Given the description of an element on the screen output the (x, y) to click on. 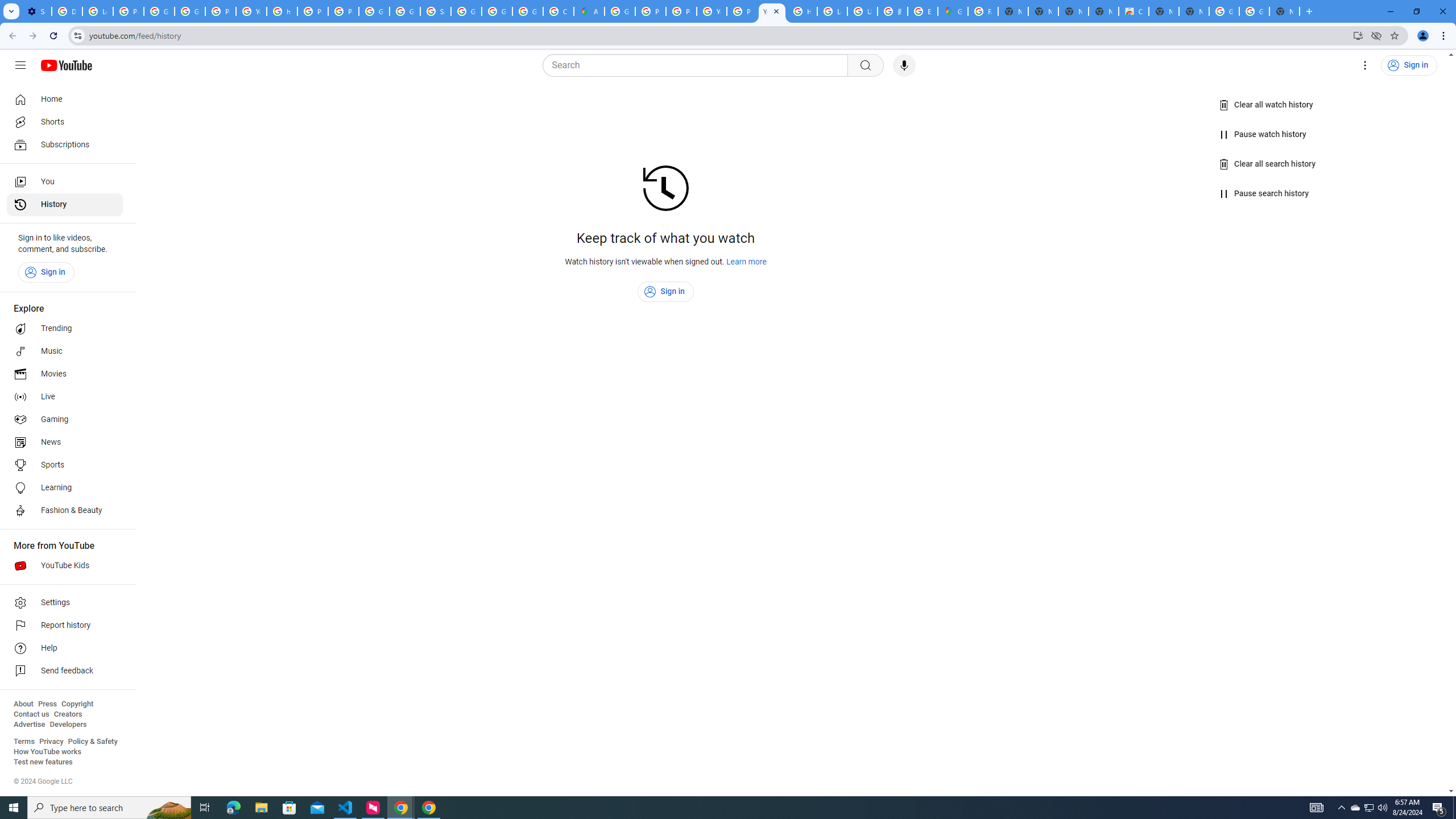
Press (46, 703)
Install YouTube (1358, 35)
Search (865, 65)
Fashion & Beauty (64, 510)
YouTube (251, 11)
About (23, 703)
Privacy (51, 741)
Report history (64, 625)
Settings - On startup (36, 11)
